Given the description of an element on the screen output the (x, y) to click on. 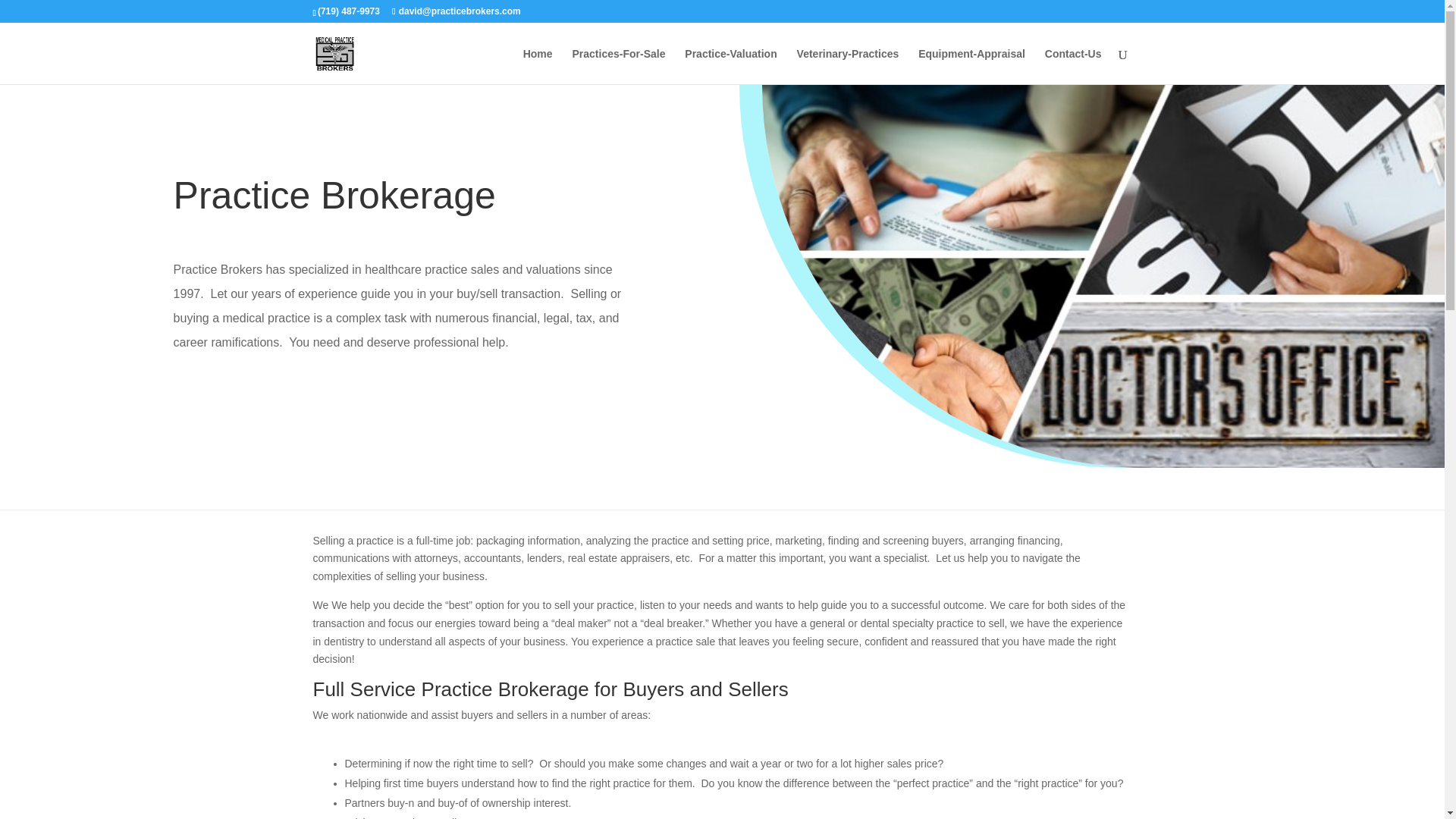
Practice-Valuation (730, 66)
Equipment-Appraisal (971, 66)
Practices-For-Sale (618, 66)
Veterinary-Practices (847, 66)
Contact-Us (1073, 66)
